Given the description of an element on the screen output the (x, y) to click on. 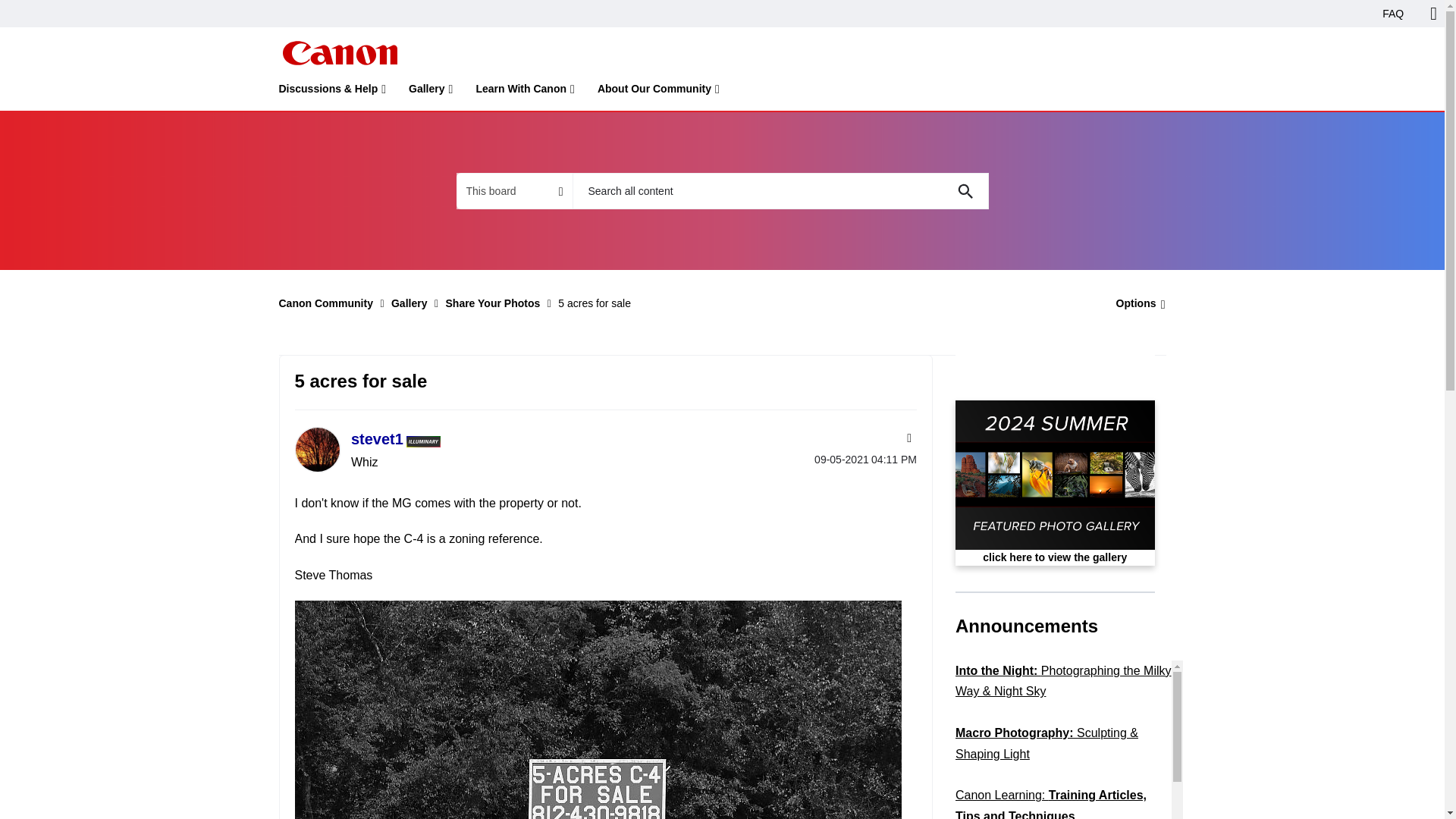
Show option menu (907, 437)
About Our Community (657, 91)
Search (964, 190)
Canon Community (339, 53)
stevet1 (316, 449)
Show option menu (1136, 303)
Gallery (430, 91)
FAQ (1393, 13)
Search (964, 190)
Search (964, 190)
Whiz (423, 441)
Learn With Canon (525, 91)
Search Granularity (514, 190)
Search (780, 190)
